Given the description of an element on the screen output the (x, y) to click on. 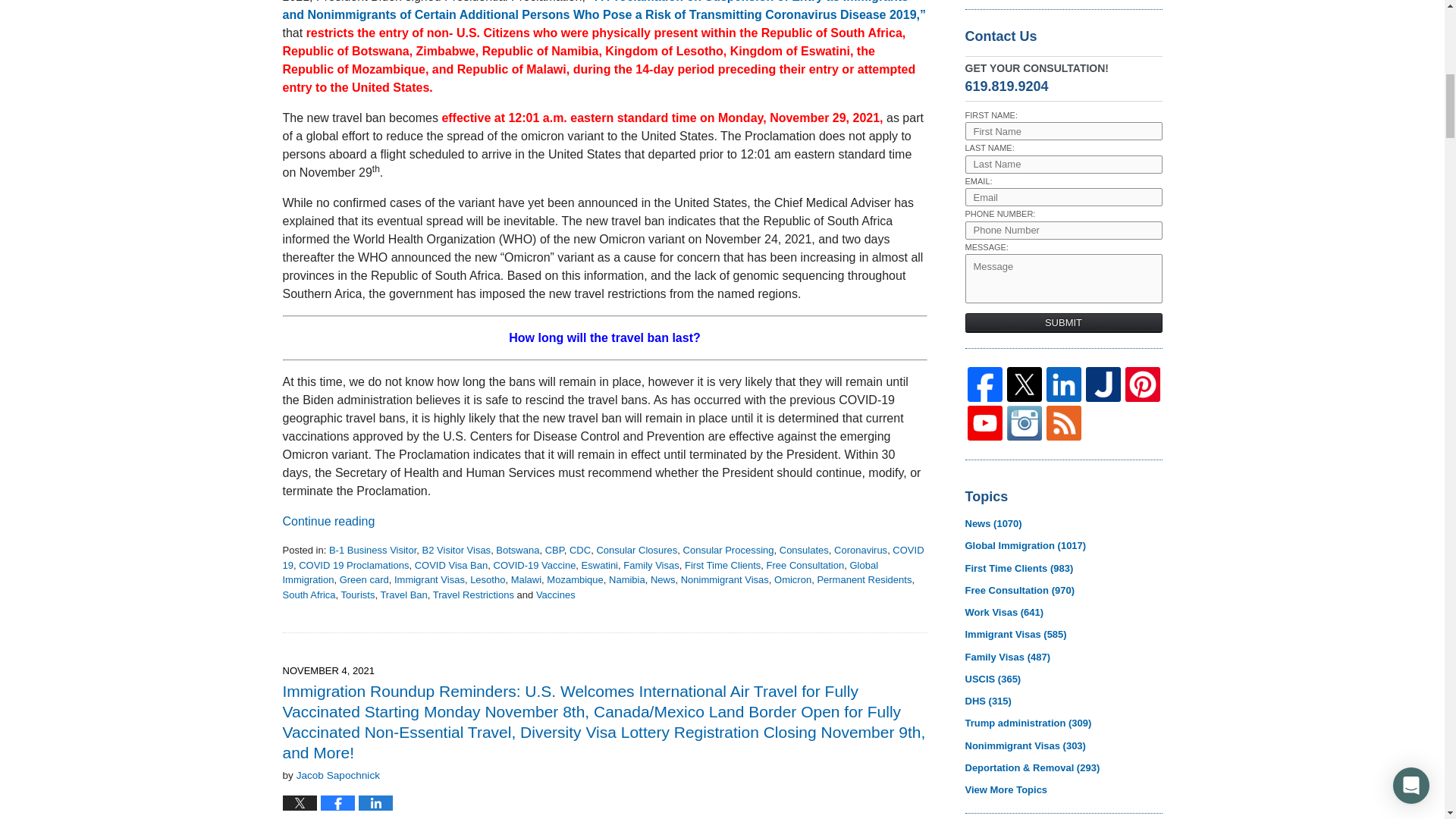
View all posts in CBP (554, 550)
First Time Clients (722, 564)
COVID 19 (602, 557)
View all posts in CDC (580, 550)
B2 Visitor Visas (457, 550)
View all posts in COVID Visa Ban (450, 564)
B-1 Business Visitor (372, 550)
COVID-19 Vaccine (534, 564)
View all posts in Botswana (517, 550)
Eswatini (598, 564)
View all posts in COVID-19 Vaccine (534, 564)
Family Visas (650, 564)
View all posts in B-1 Business Visitor (372, 550)
Botswana (517, 550)
COVID 19 Proclamations (353, 564)
